Given the description of an element on the screen output the (x, y) to click on. 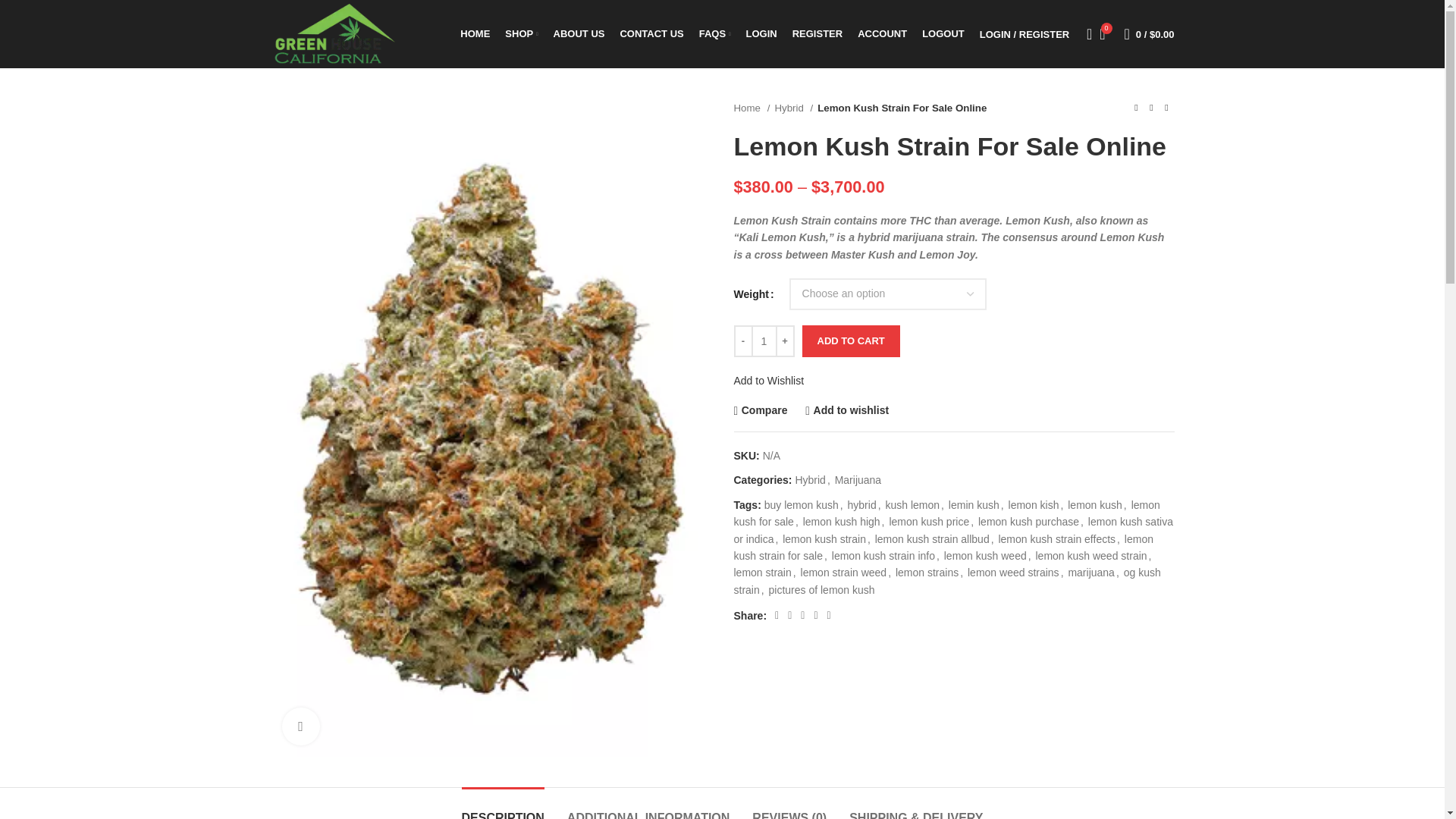
REGISTER (817, 33)
LOGIN (761, 33)
HOME (474, 33)
CONTACT US (651, 33)
Shopping cart (1149, 33)
ACCOUNT (882, 33)
My account (1024, 33)
FAQS (714, 33)
LOGOUT (942, 33)
ABOUT US (579, 33)
